Given the description of an element on the screen output the (x, y) to click on. 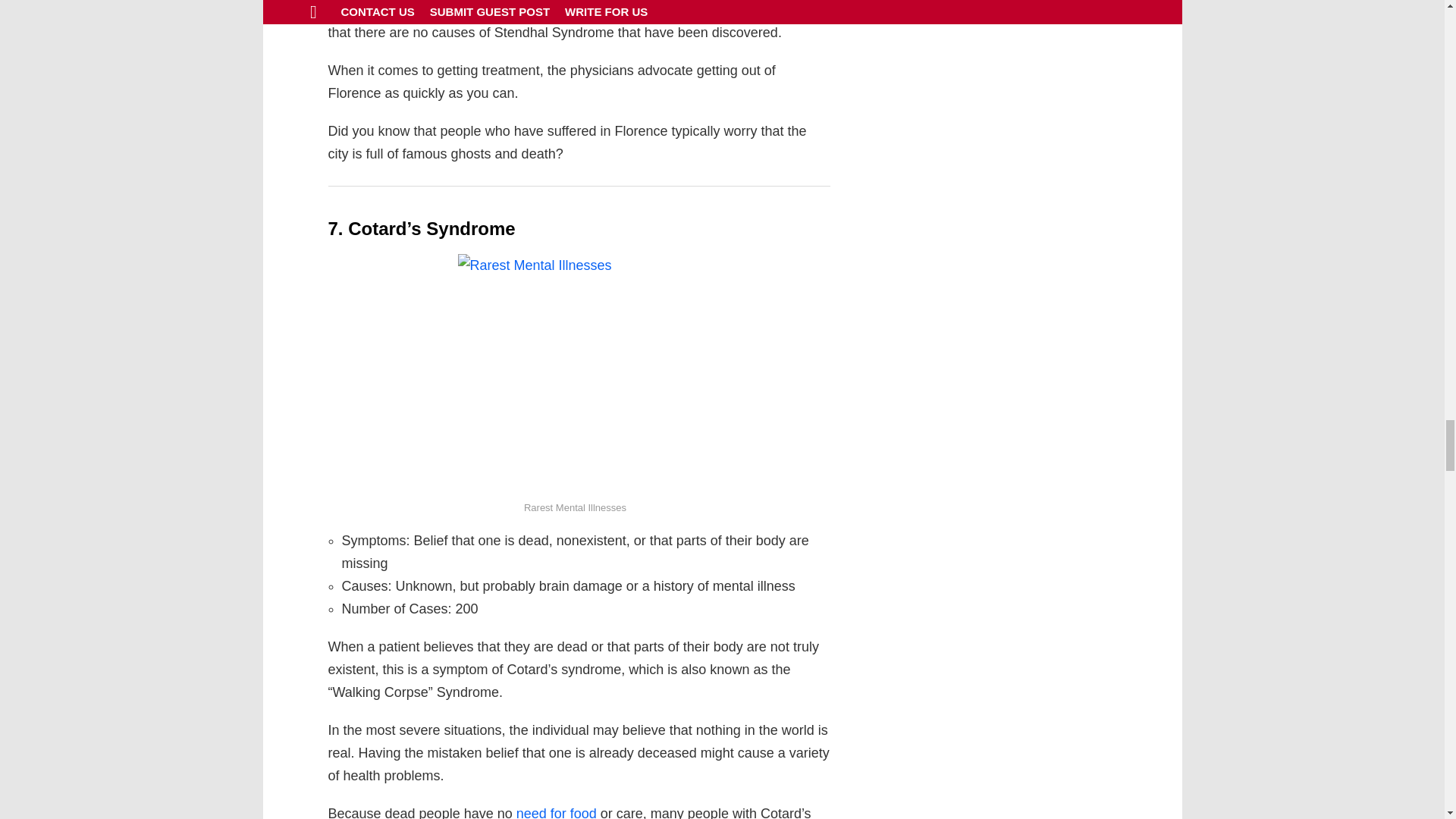
need for food (556, 812)
